Given the description of an element on the screen output the (x, y) to click on. 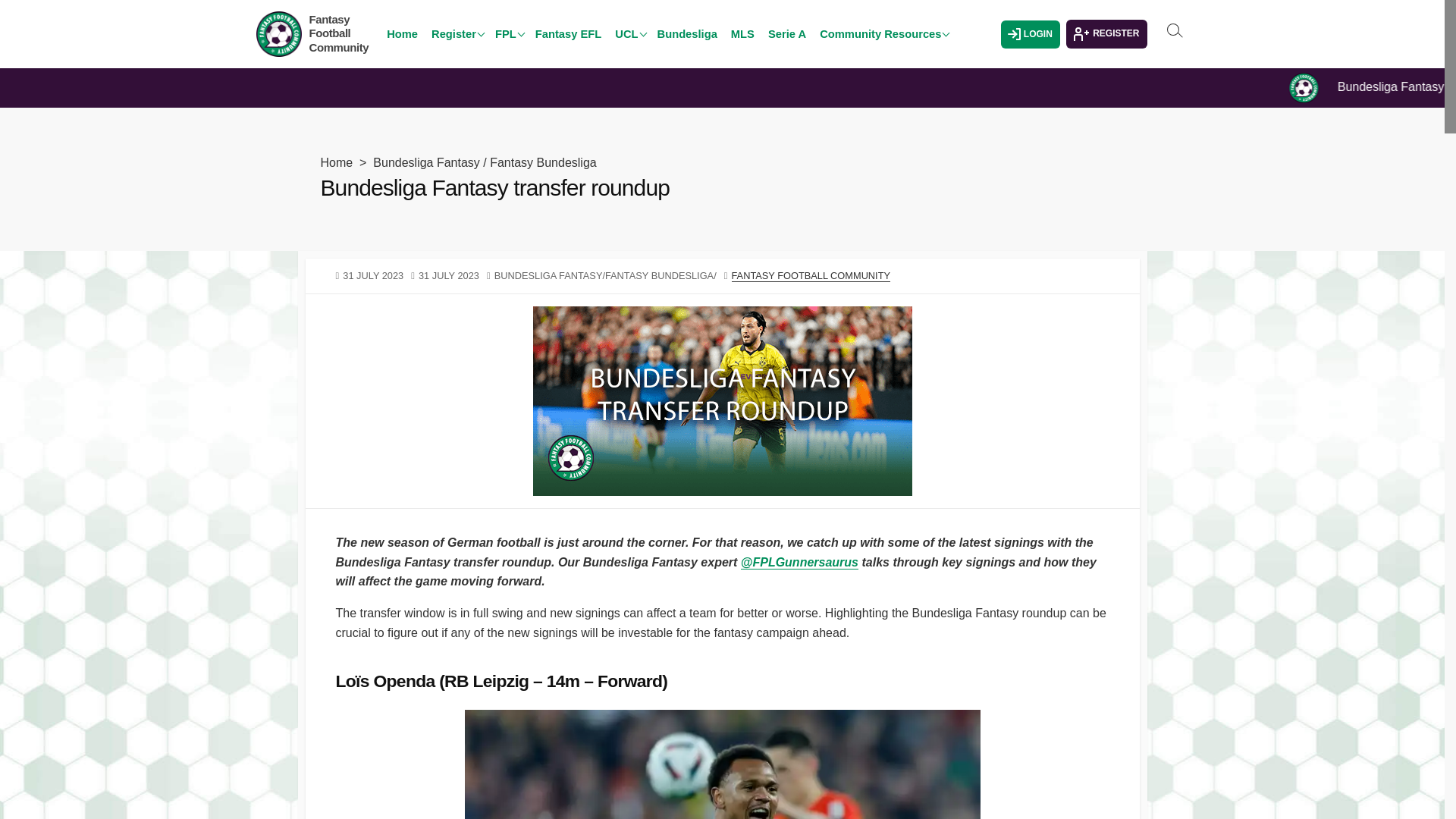
Fantasy EFL (568, 33)
Fantasy Football Community (278, 33)
Fantasy Bundesliga (542, 162)
Bundesliga (686, 33)
Bundesliga Fantasy (426, 162)
Membership Pricing (500, 16)
Fantasy Football Community (338, 33)
Register (456, 33)
Fantasy Football Glossary (887, 51)
Search Toggle (1173, 30)
Fantasy Football Community (338, 33)
FPL Help Guides (563, 43)
Posts by Fantasy Football Community (809, 275)
UCL Fantasy Fixture Ticker (684, 24)
FANTASY FOOTBALL COMMUNITY (809, 275)
